Given the description of an element on the screen output the (x, y) to click on. 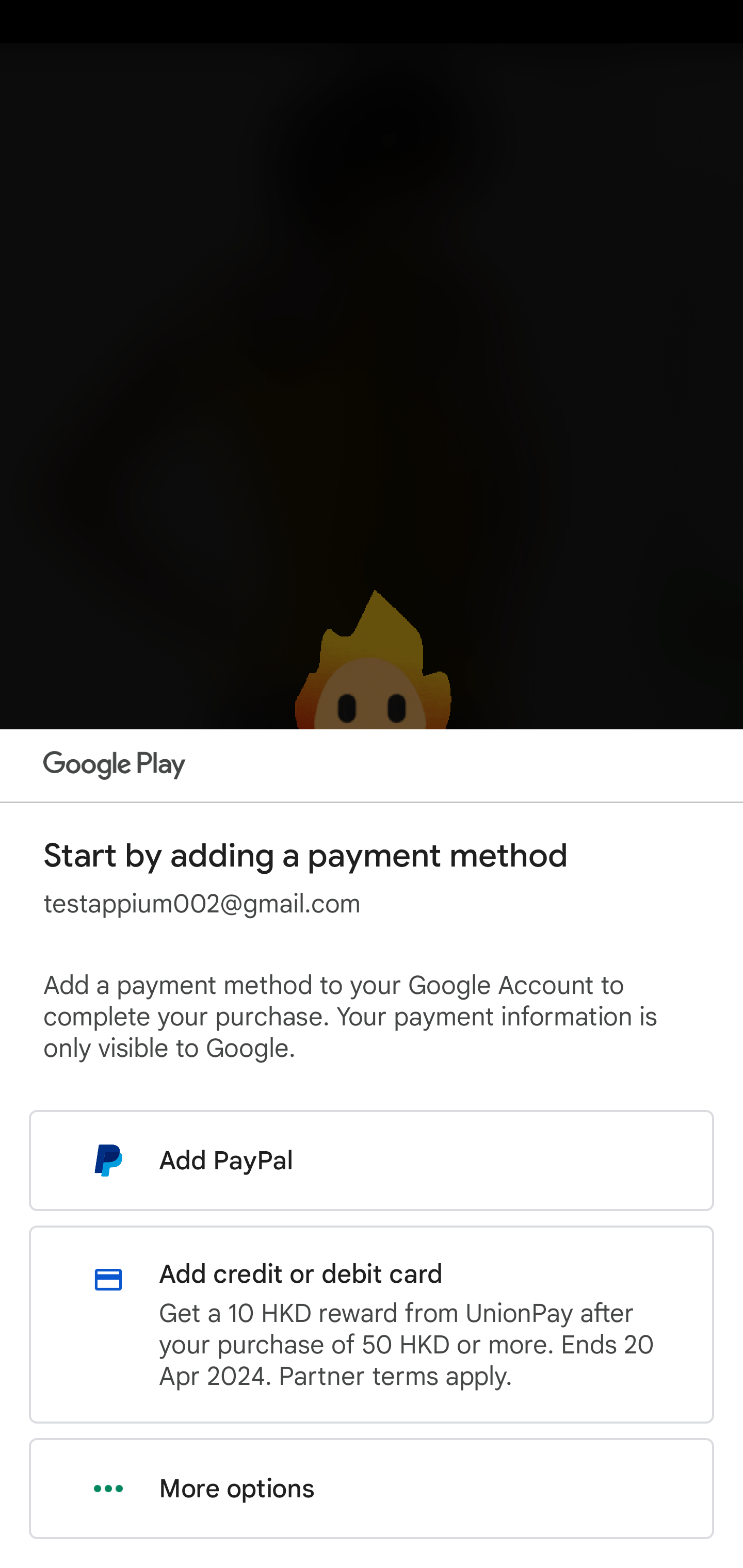
Add PayPal (371, 1160)
More options (371, 1488)
